Given the description of an element on the screen output the (x, y) to click on. 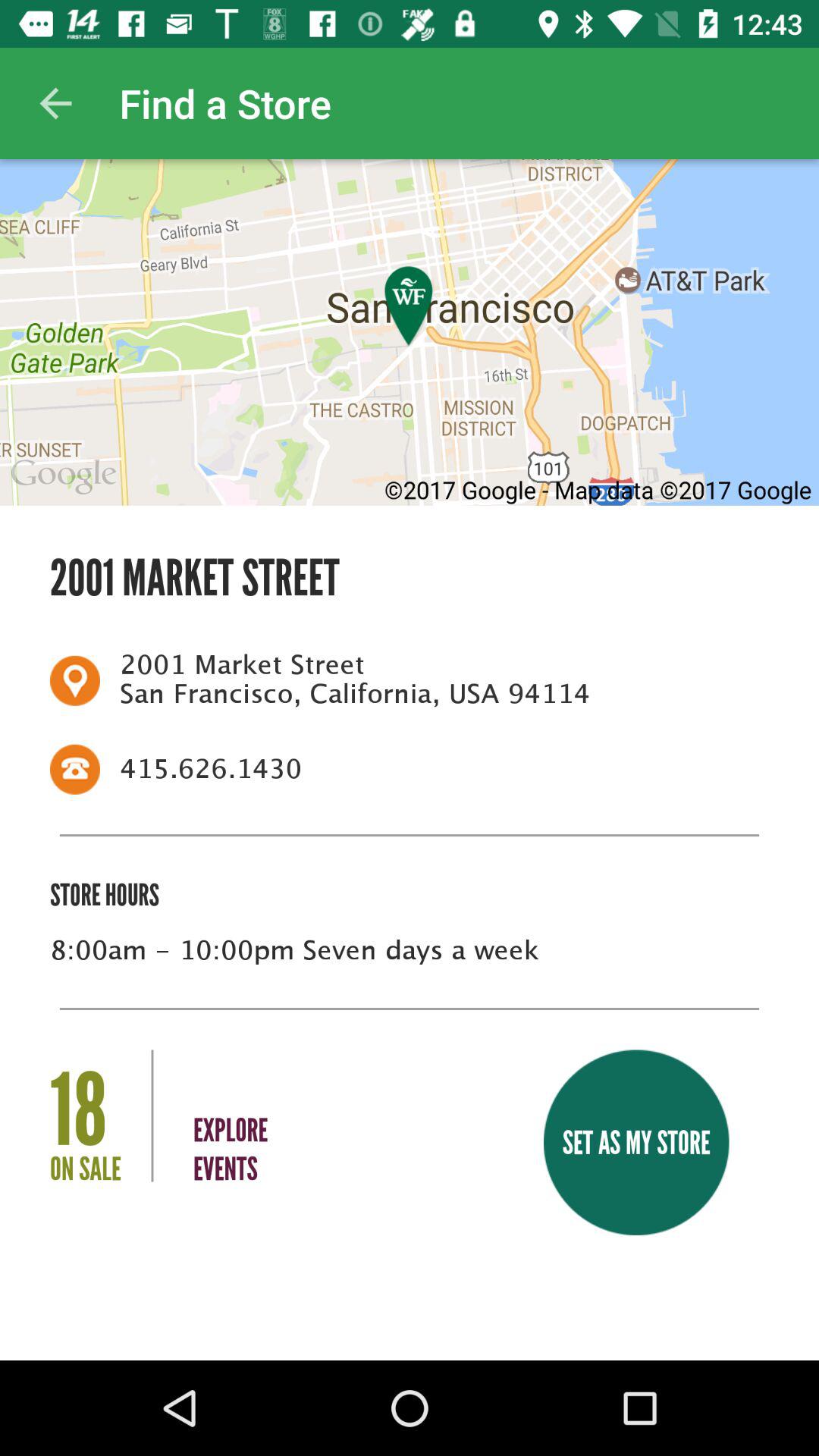
jump until the 415.626.1430 icon (434, 769)
